Given the description of an element on the screen output the (x, y) to click on. 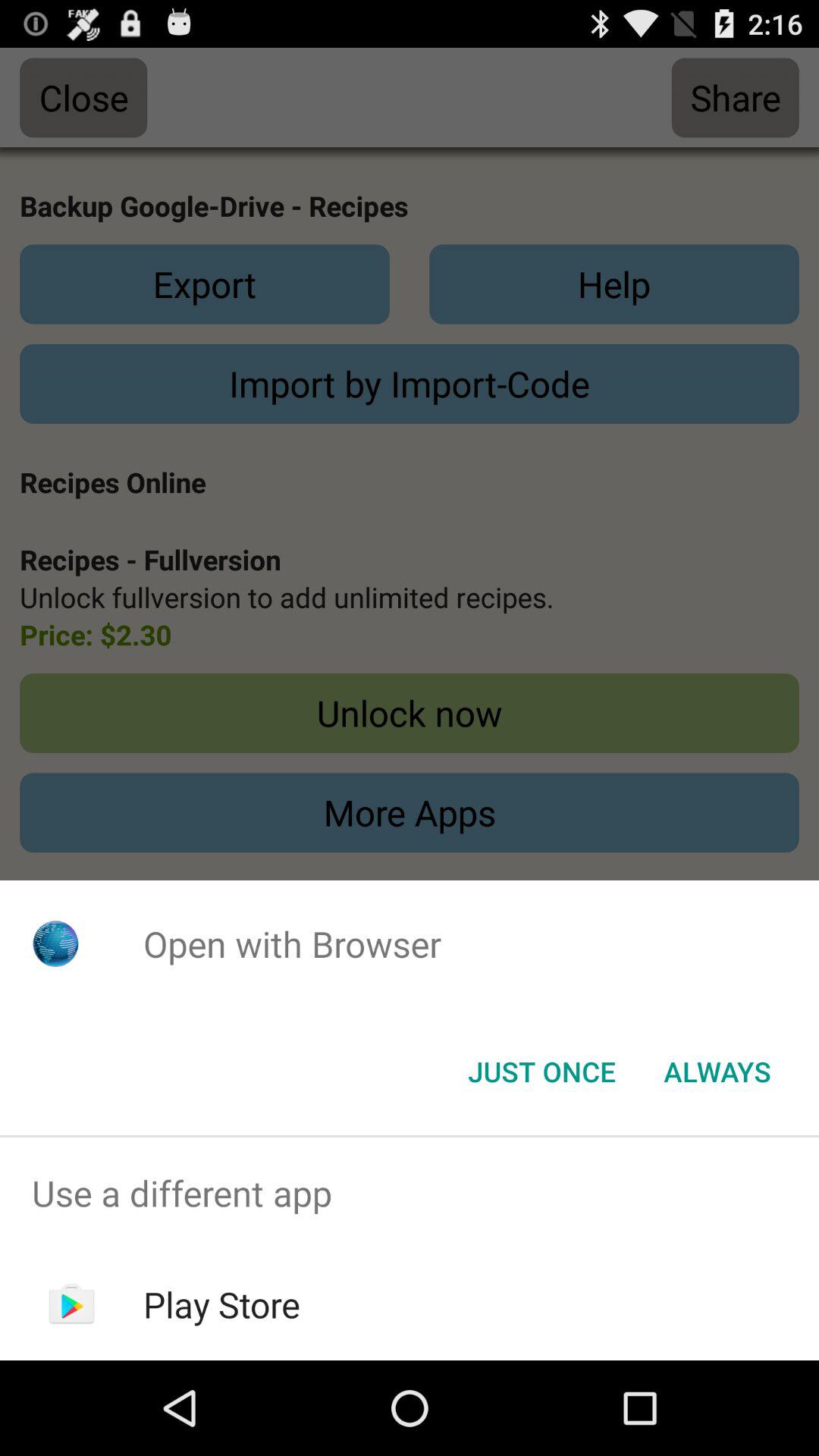
press icon above the play store (409, 1192)
